Given the description of an element on the screen output the (x, y) to click on. 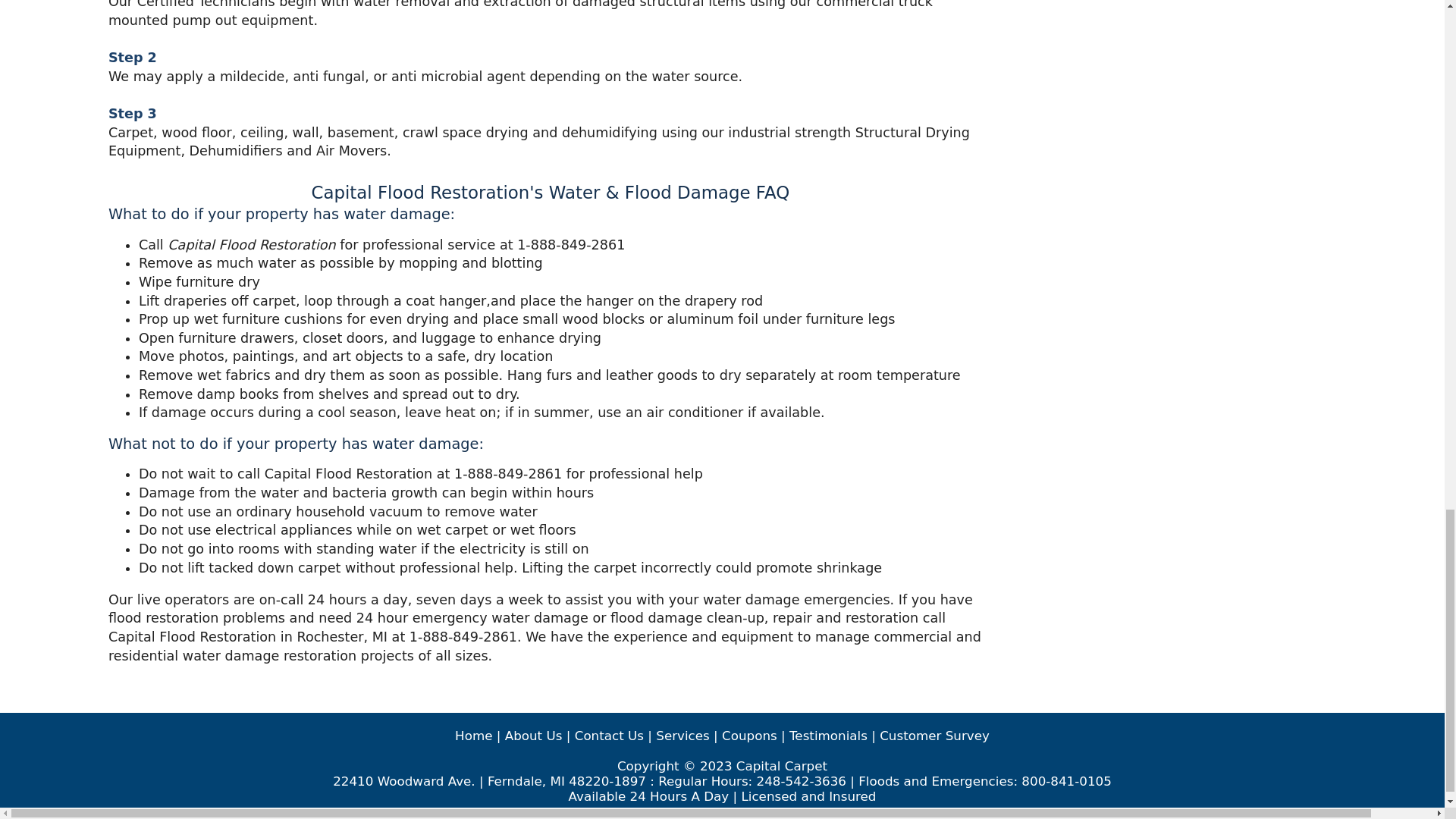
Coupons (749, 735)
Customer Survey (934, 735)
Home (473, 735)
Contact Capital Carpet, Inc. (609, 735)
Contact Us (609, 735)
Information about Capital Carpet (533, 735)
About Us (533, 735)
Testimonials (828, 735)
Customer Survey (934, 735)
Services (683, 735)
Money Saving Coupons (749, 735)
Information about the many services we offer (683, 735)
Capital Carpet, Inc. (473, 735)
Customer Testimonials (828, 735)
